Given the description of an element on the screen output the (x, y) to click on. 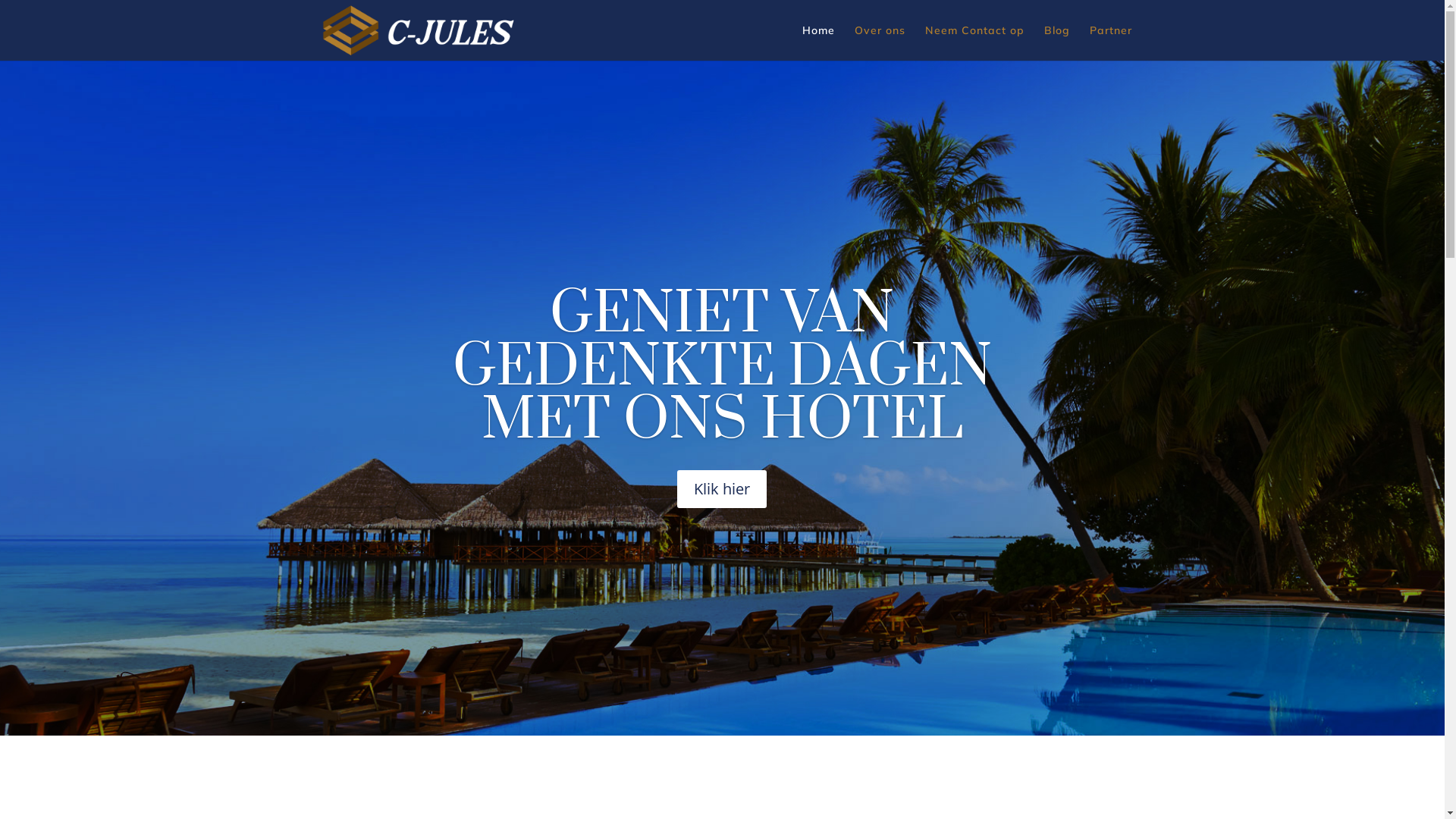
Klik hier Element type: text (721, 489)
Partner Element type: text (1109, 42)
Neem Contact op Element type: text (974, 42)
Home Element type: text (818, 42)
Over ons Element type: text (878, 42)
Blog Element type: text (1056, 42)
